Given the description of an element on the screen output the (x, y) to click on. 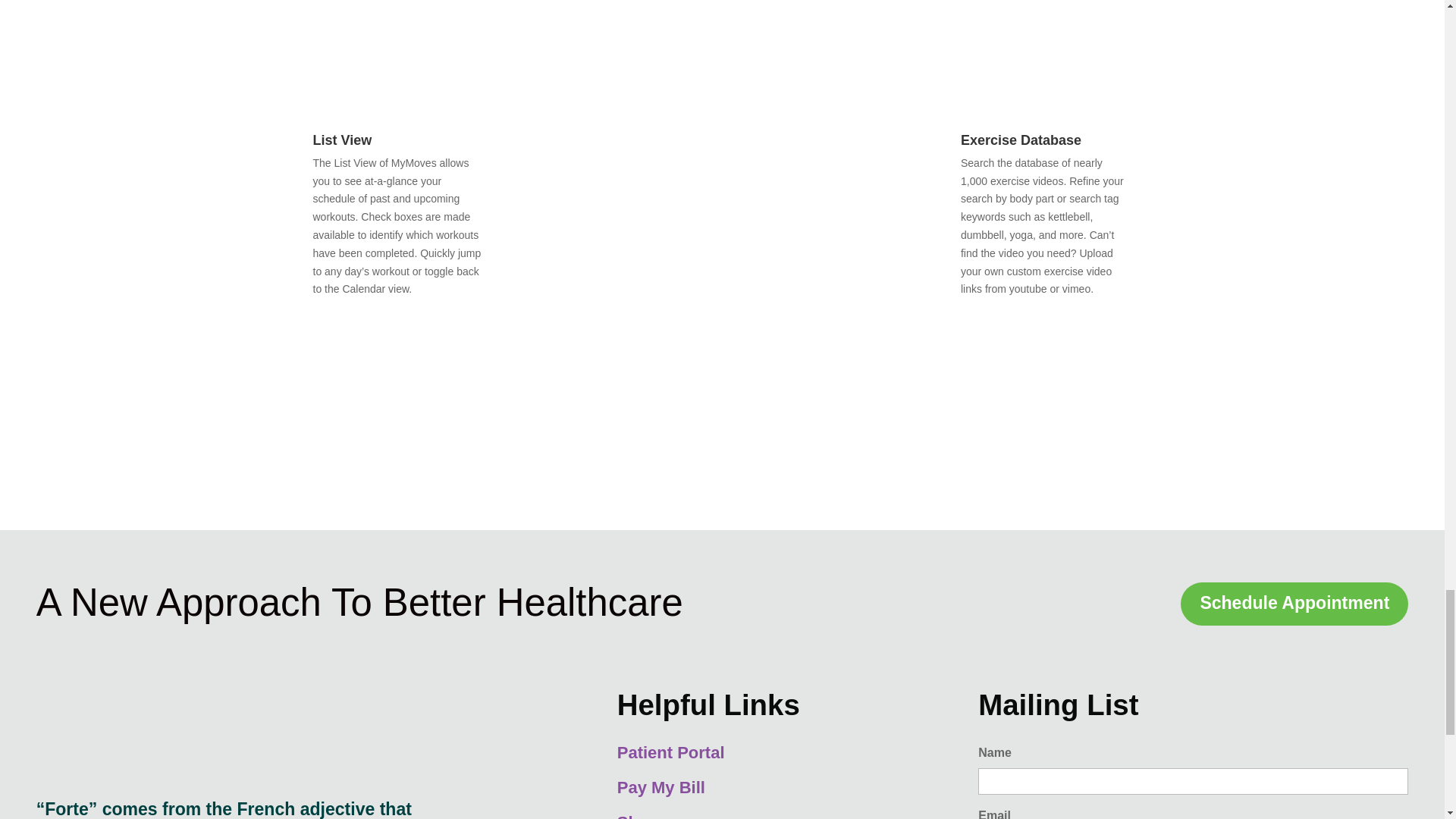
and (637, 467)
list (818, 32)
appl (796, 467)
mymoves (602, 32)
database (818, 387)
Group 126 (221, 733)
